Given the description of an element on the screen output the (x, y) to click on. 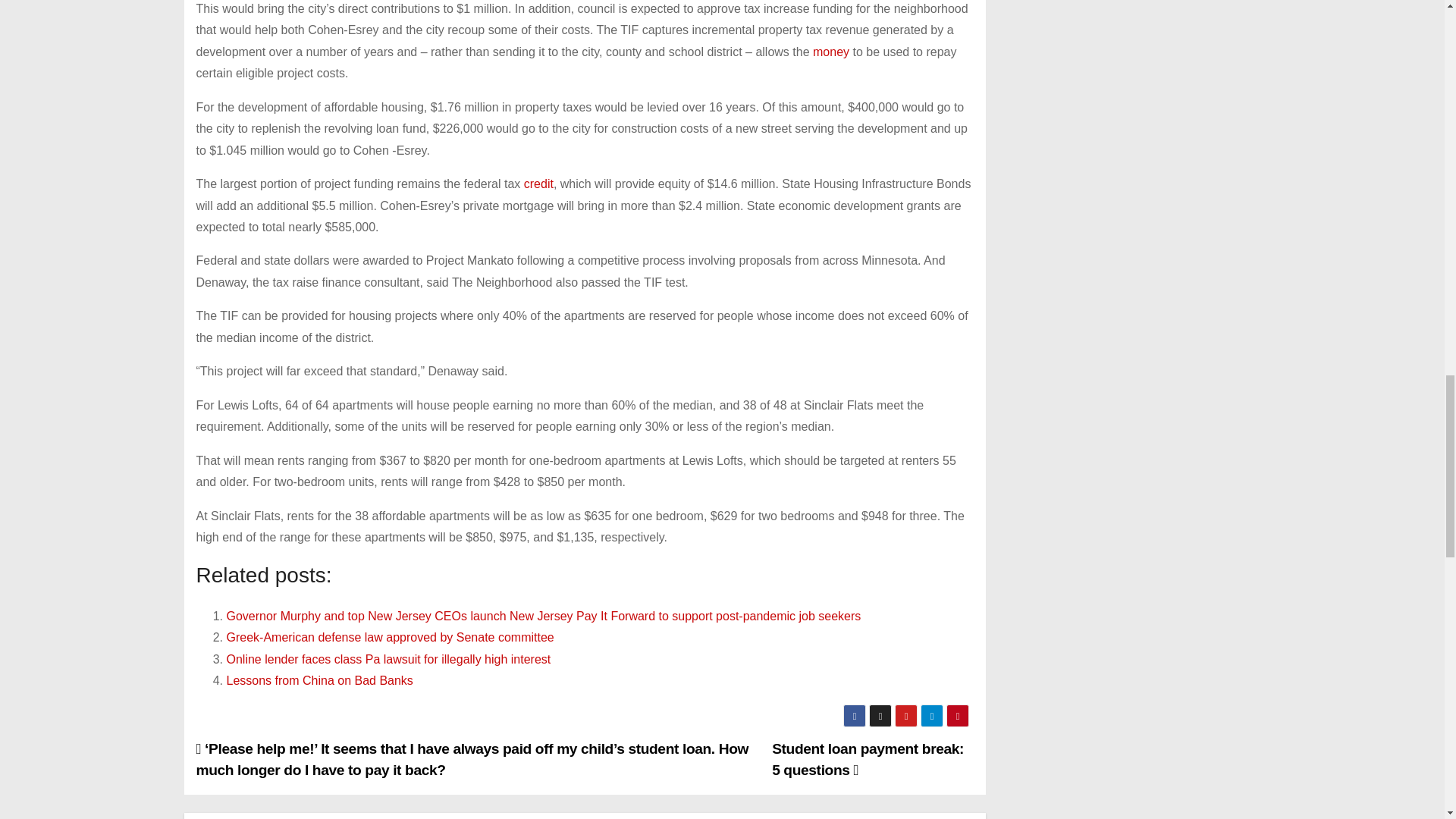
credit (538, 183)
Student loan payment break: 5 questions (867, 759)
Greek-American defense law approved by Senate committee (389, 636)
Lessons from China on Bad Banks (318, 680)
Lessons from China on Bad Banks (318, 680)
credit (538, 183)
Greek-American defense law approved by Senate committee (389, 636)
